Given the description of an element on the screen output the (x, y) to click on. 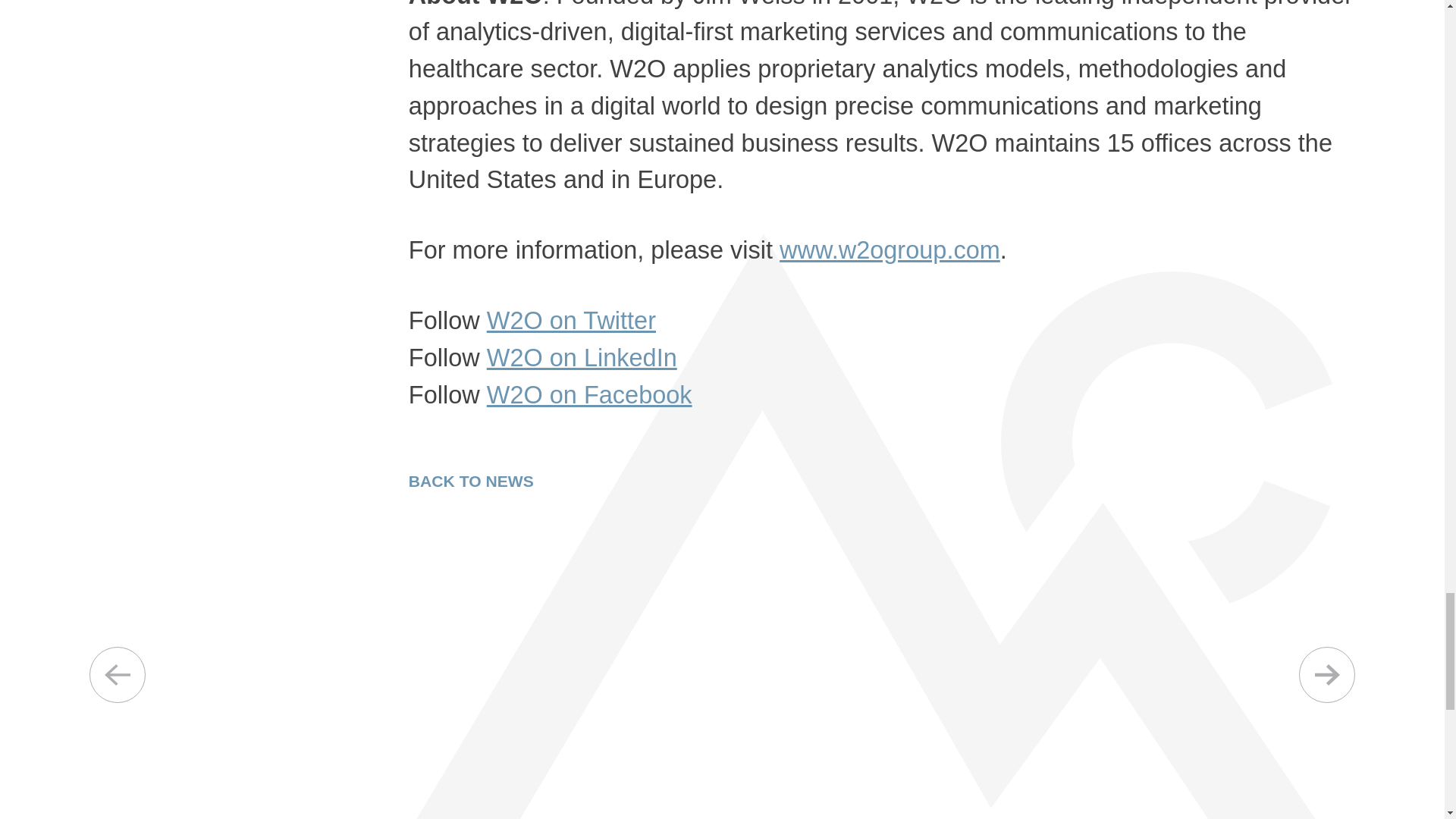
W2O on LinkedIn (581, 357)
W2O on Facebook (589, 394)
W2O on Twitter (571, 320)
www.w2ogroup.com (889, 249)
BACK TO NEWS (471, 480)
